Given the description of an element on the screen output the (x, y) to click on. 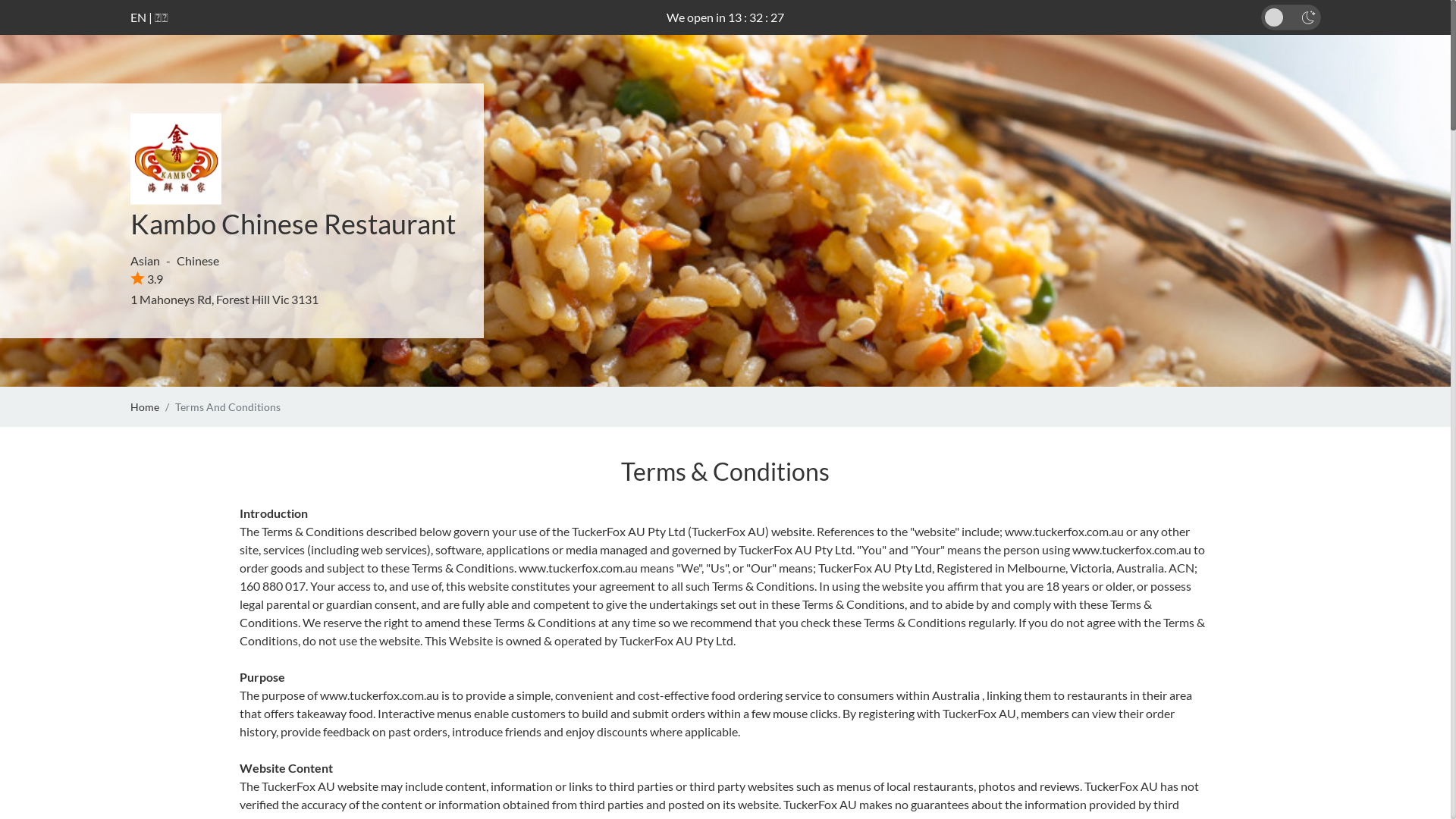
EN Element type: text (138, 16)
3.9 Element type: text (146, 278)
Kambo Chinese Restaurant Element type: text (292, 223)
Home Element type: text (144, 406)
